Given the description of an element on the screen output the (x, y) to click on. 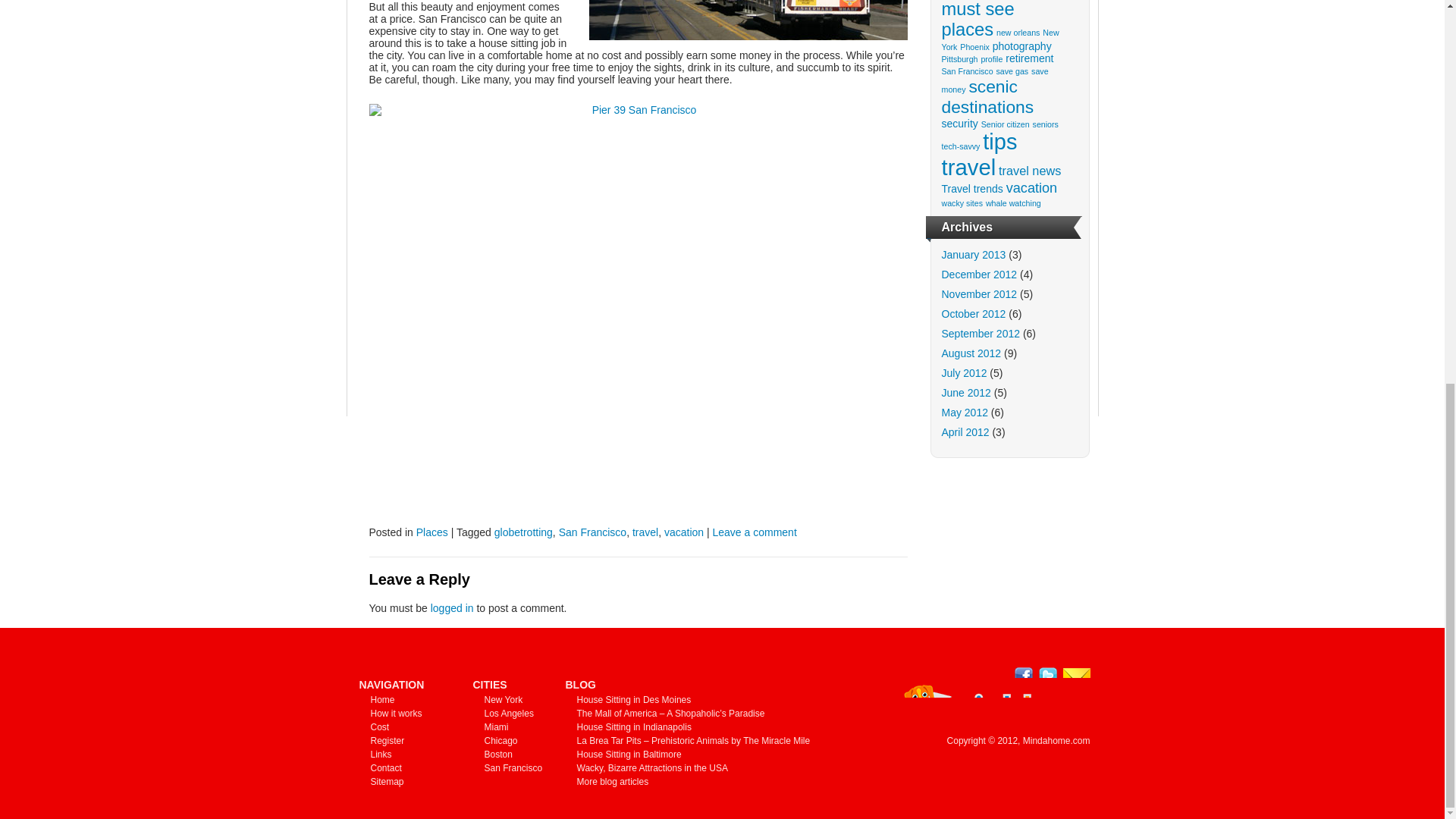
globetrotting (524, 532)
Leave a comment (754, 532)
Places (432, 532)
vacation (683, 532)
travel (644, 532)
San Francisco (592, 532)
logged in (452, 607)
